Given the description of an element on the screen output the (x, y) to click on. 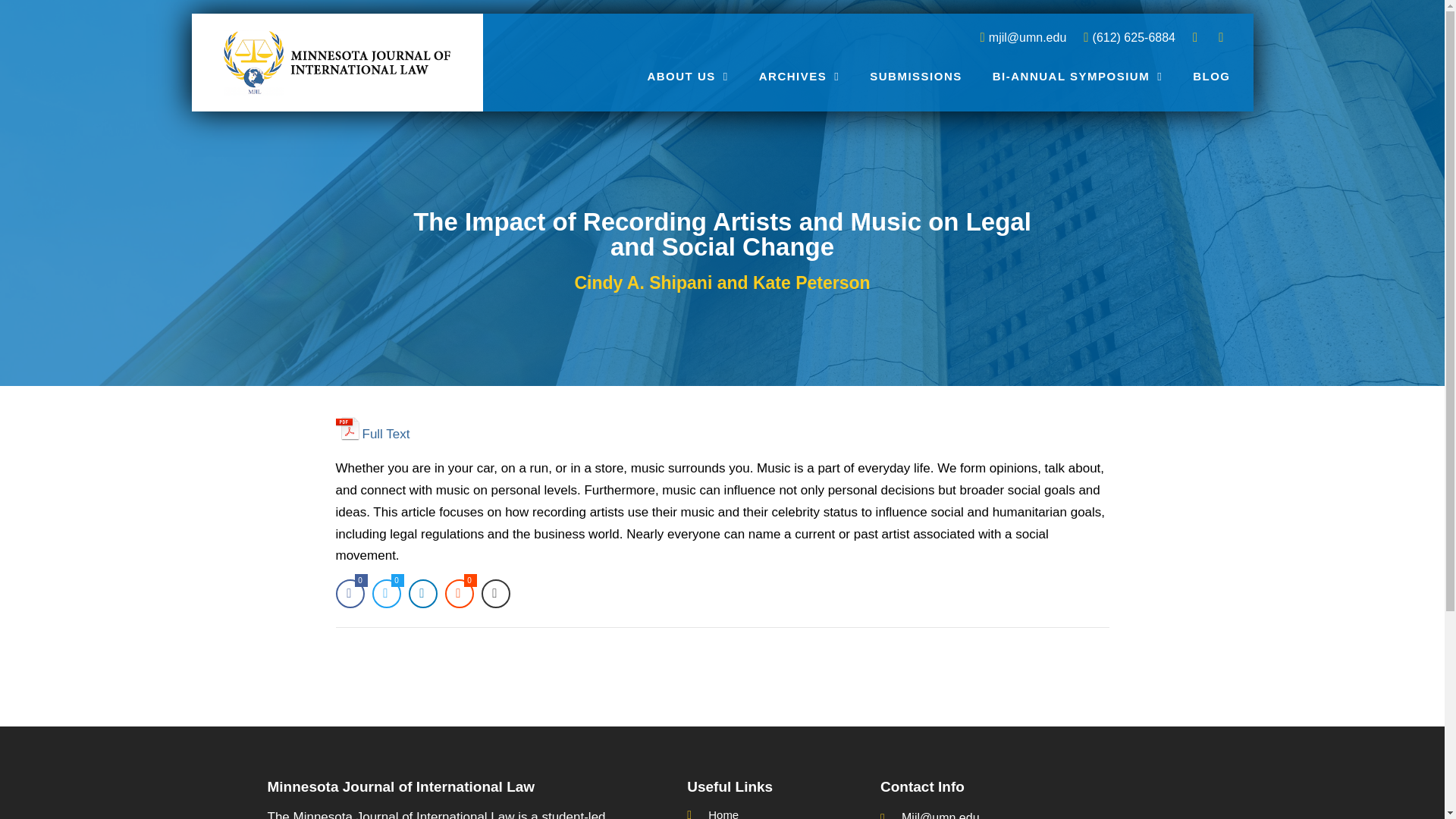
BI-ANNUAL SYMPOSIUM (1076, 76)
SUBMISSIONS (915, 76)
0 (385, 593)
ARCHIVES (800, 76)
0 (458, 593)
Full Text (371, 428)
ABOUT US (686, 76)
0 (349, 593)
BLOG (1210, 76)
